Given the description of an element on the screen output the (x, y) to click on. 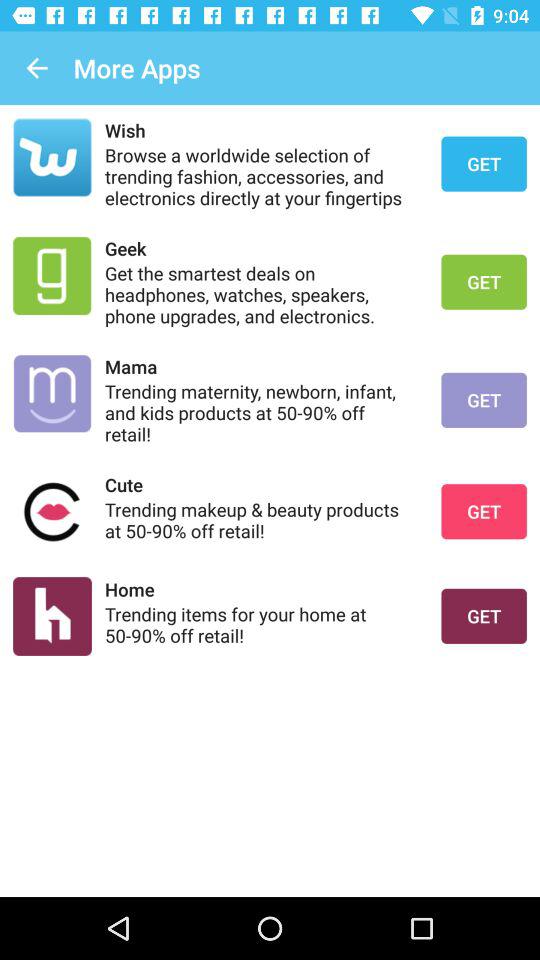
launch item above get the smartest (260, 248)
